Given the description of an element on the screen output the (x, y) to click on. 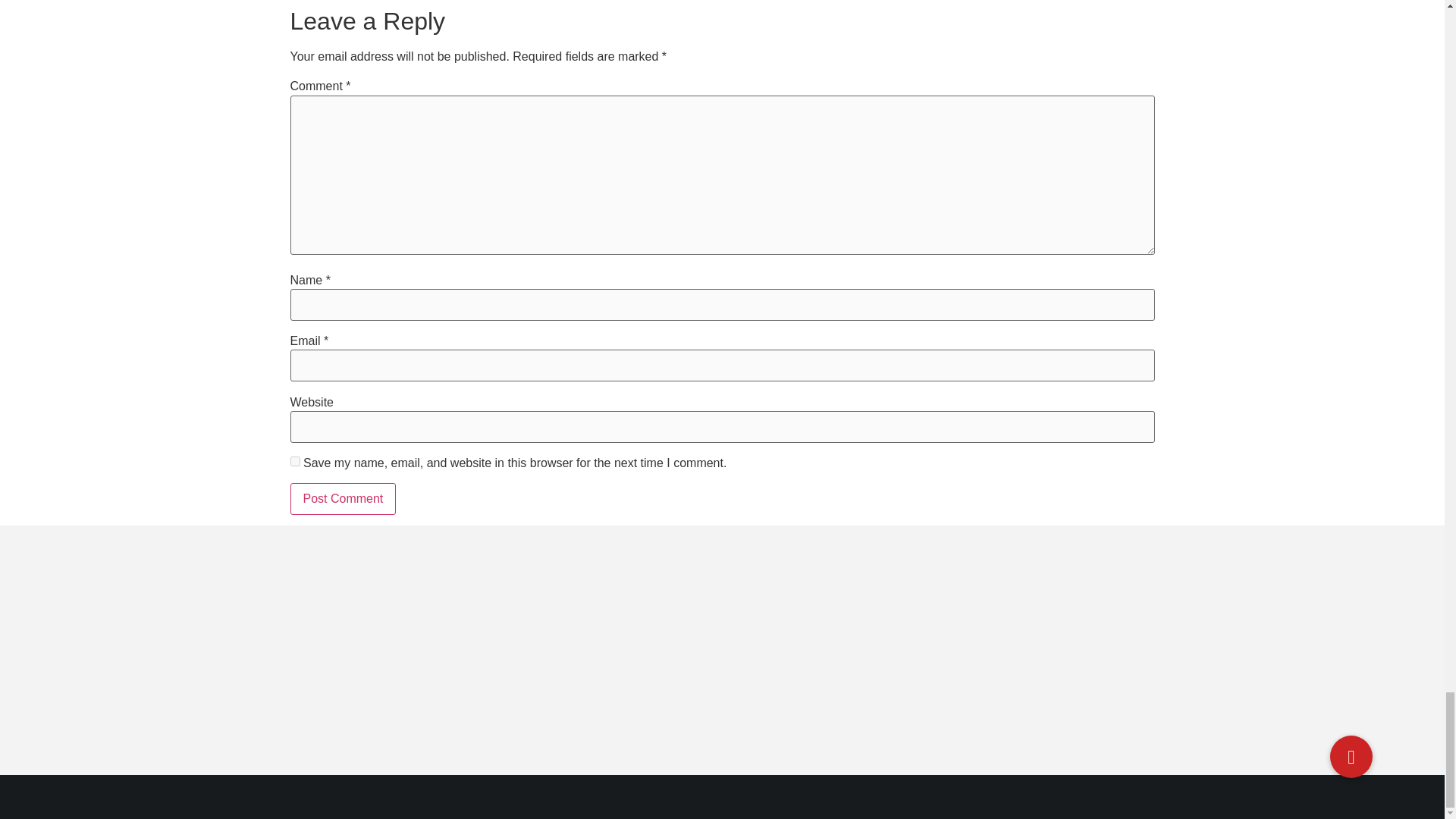
Post Comment (342, 499)
Post Comment (342, 499)
yes (294, 461)
